Given the description of an element on the screen output the (x, y) to click on. 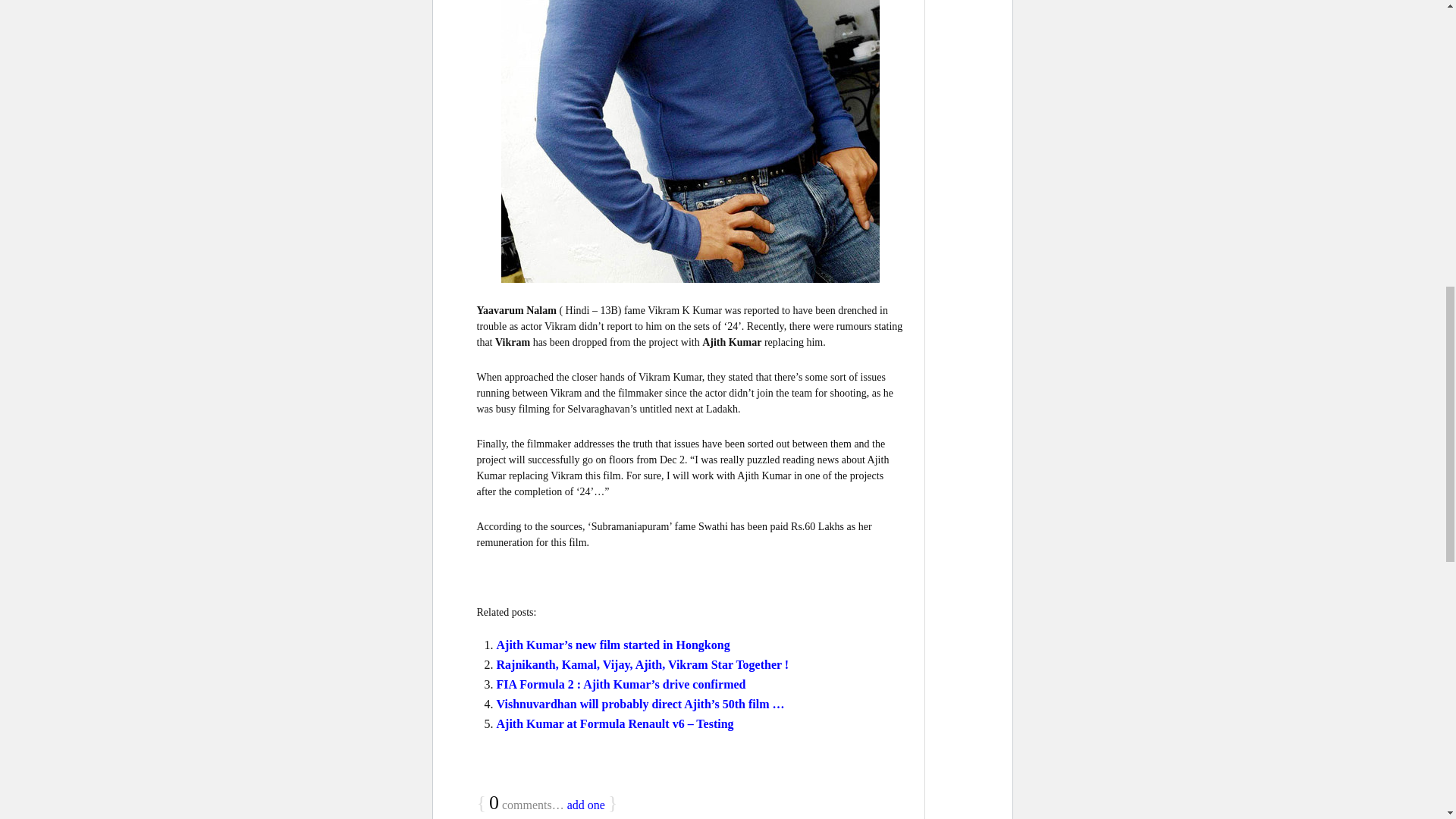
add one (586, 804)
